Given the description of an element on the screen output the (x, y) to click on. 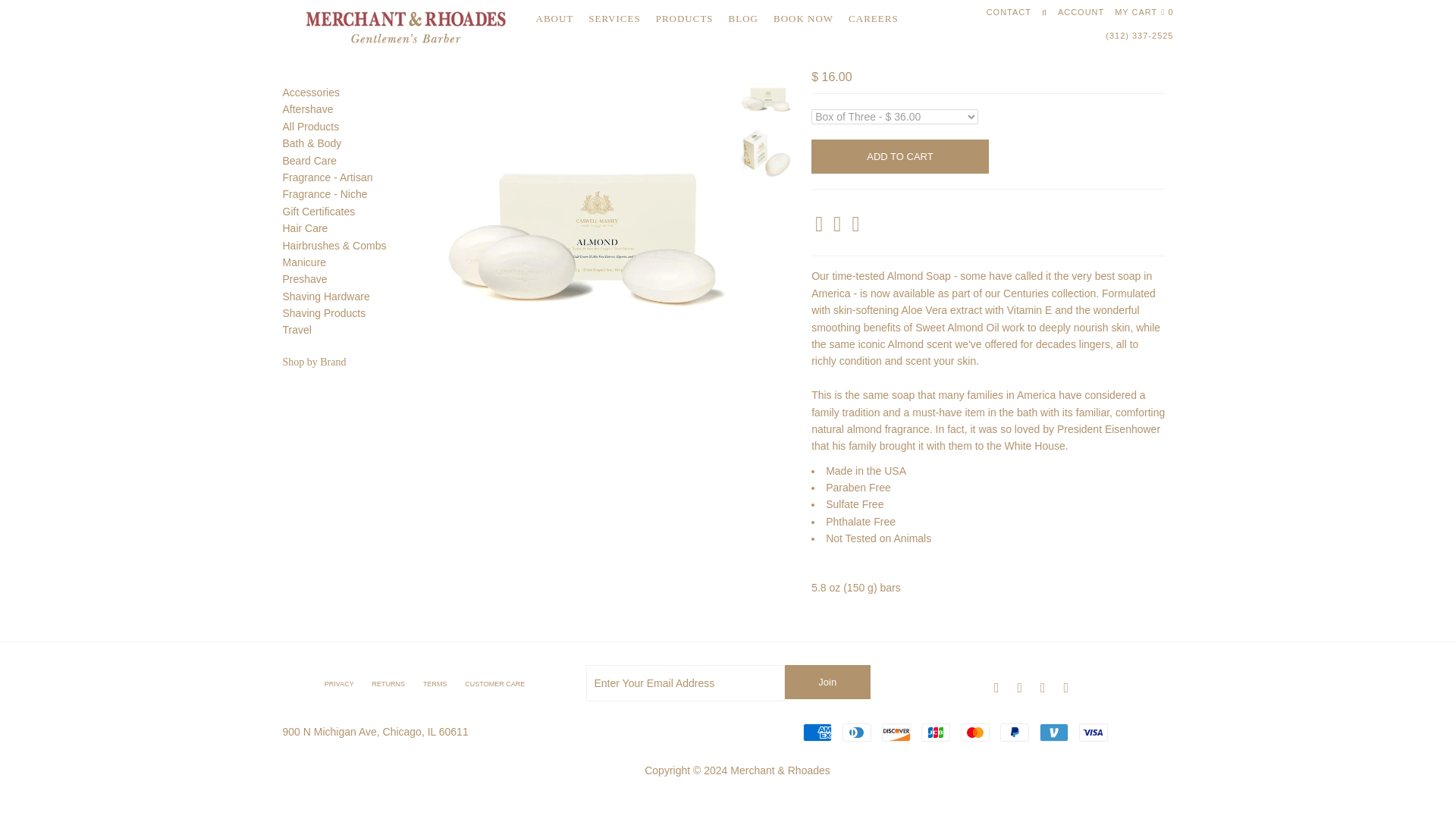
Preshave (304, 278)
Shaving Products (323, 313)
Beard Care (309, 160)
Gift Certificates (318, 211)
BLOG (742, 18)
Fragrance - Artisan (327, 177)
Hair Care (304, 227)
Manicure (304, 262)
All Products (310, 126)
SERVICES (613, 18)
